Given the description of an element on the screen output the (x, y) to click on. 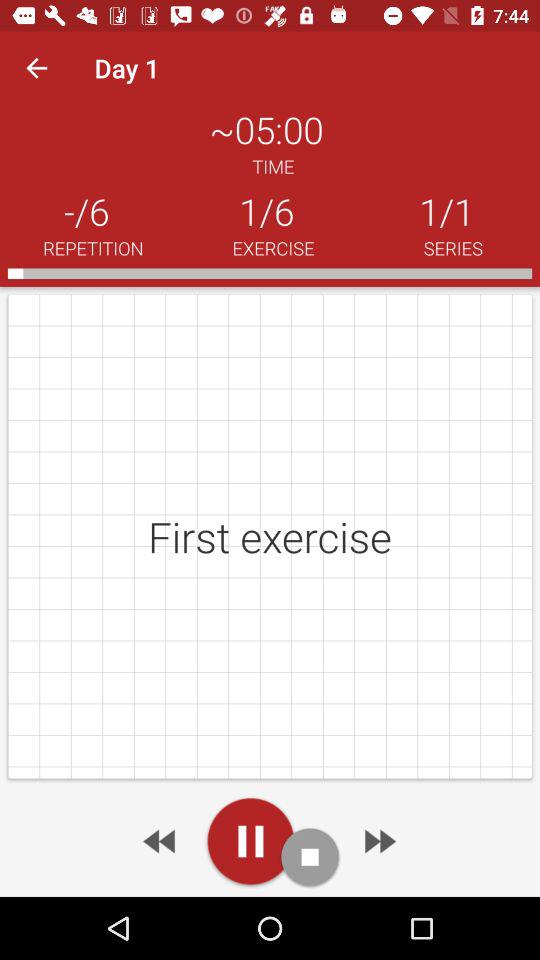
previous track (161, 841)
